Given the description of an element on the screen output the (x, y) to click on. 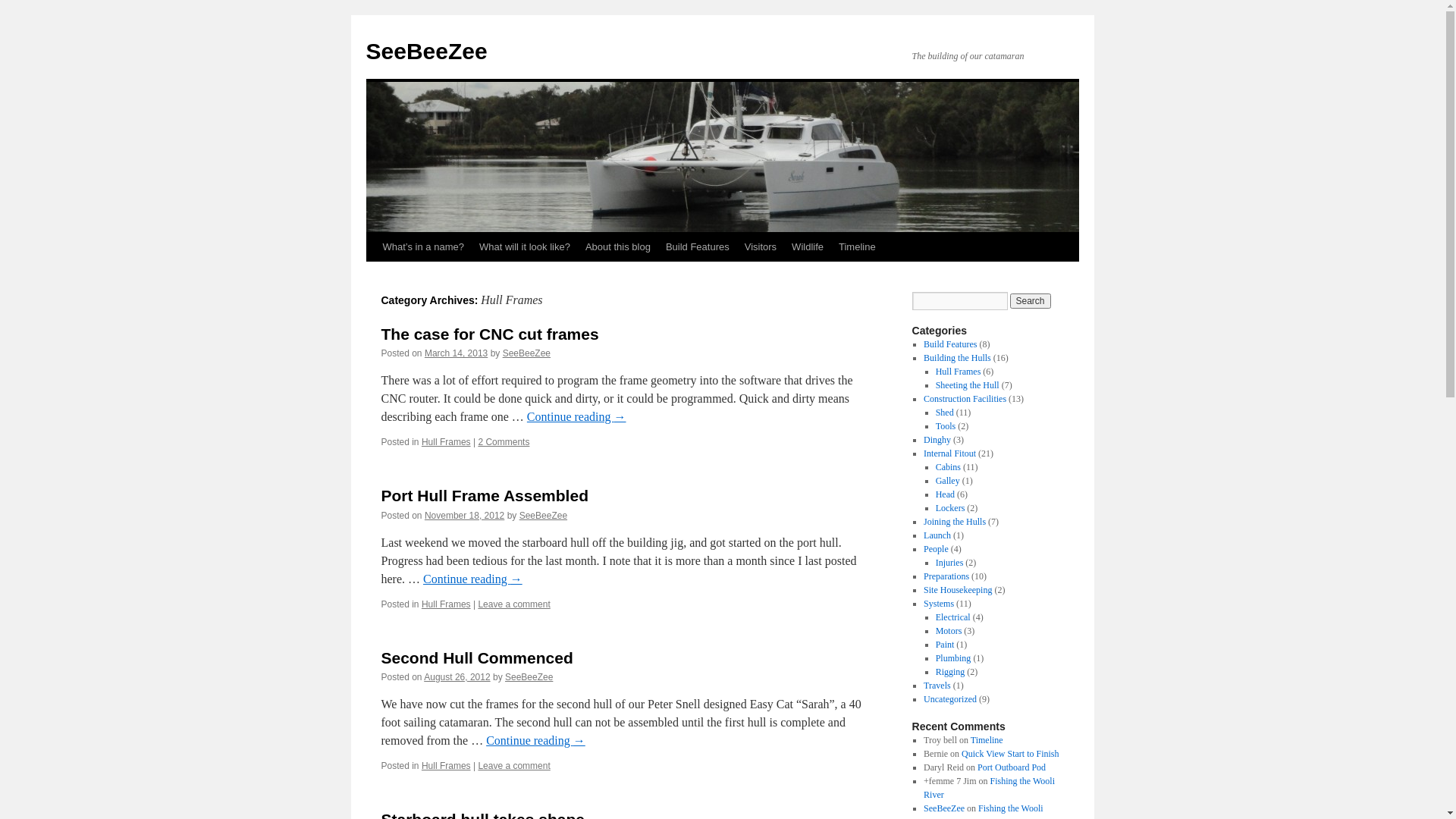
November 18, 2012 Element type: text (464, 515)
March 14, 2013 Element type: text (455, 353)
Timeline Element type: text (986, 739)
Lockers Element type: text (950, 507)
Hull Frames Element type: text (445, 604)
Galley Element type: text (947, 480)
Travels Element type: text (936, 685)
SeeBeeZee Element type: text (943, 808)
Cabins Element type: text (947, 466)
Timeline Element type: text (857, 246)
Leave a comment Element type: text (513, 604)
Site Housekeeping Element type: text (957, 589)
Leave a comment Element type: text (513, 765)
Hull Frames Element type: text (958, 371)
Motors Element type: text (948, 630)
SeeBeeZee Element type: text (526, 353)
Plumbing Element type: text (953, 657)
Shed Element type: text (944, 412)
Build Features Element type: text (949, 343)
Search Element type: text (1030, 300)
Quick View Start to Finish Element type: text (1009, 753)
SeeBeeZee Element type: text (425, 50)
Second Hull Commenced Element type: text (476, 657)
What will it look like? Element type: text (524, 246)
Building the Hulls Element type: text (957, 357)
Injuries Element type: text (949, 562)
Port Hull Frame Assembled Element type: text (483, 495)
Fishing the Wooli River Element type: text (988, 787)
2 Comments Element type: text (503, 441)
Internal Fitout Element type: text (949, 453)
Rigging Element type: text (950, 671)
Launch Element type: text (936, 535)
Electrical Element type: text (952, 616)
The case for CNC cut frames Element type: text (489, 333)
Visitors Element type: text (760, 246)
Joining the Hulls Element type: text (954, 521)
Paint Element type: text (944, 644)
Hull Frames Element type: text (445, 765)
Sheeting the Hull Element type: text (967, 384)
Tools Element type: text (945, 425)
Construction Facilities Element type: text (964, 398)
Uncategorized Element type: text (949, 698)
Port Outboard Pod Element type: text (1011, 767)
Wildlife Element type: text (807, 246)
August 26, 2012 Element type: text (456, 676)
Hull Frames Element type: text (445, 441)
Dinghy Element type: text (936, 439)
About this blog Element type: text (617, 246)
People Element type: text (935, 548)
SeeBeeZee Element type: text (543, 515)
Build Features Element type: text (697, 246)
Systems Element type: text (938, 603)
Head Element type: text (944, 494)
Skip to content Element type: text (372, 275)
SeeBeeZee Element type: text (528, 676)
Preparations Element type: text (946, 576)
